Given the description of an element on the screen output the (x, y) to click on. 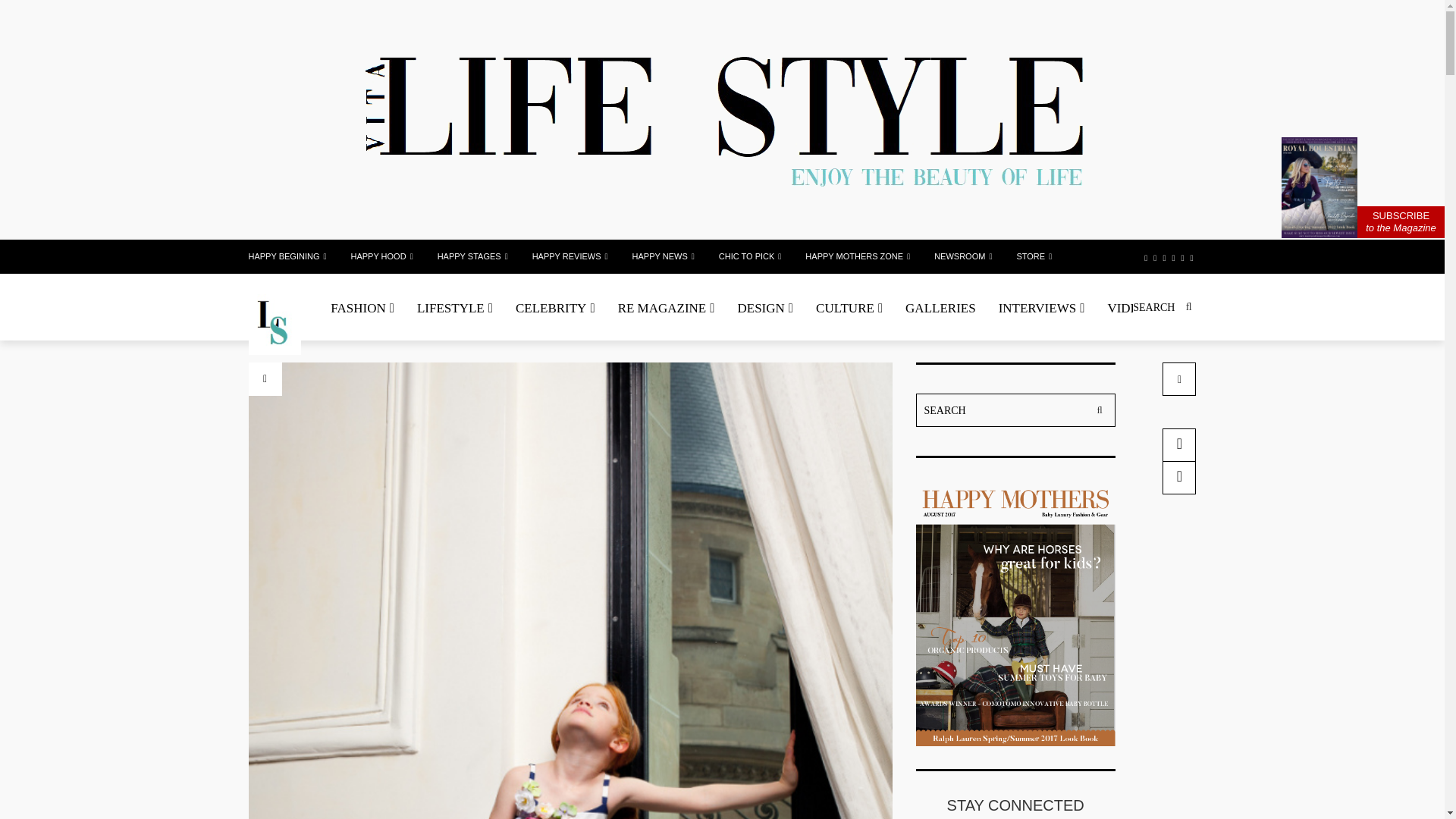
Life Style Magazine - Enjoy the Beauty of Life (274, 324)
